Given the description of an element on the screen output the (x, y) to click on. 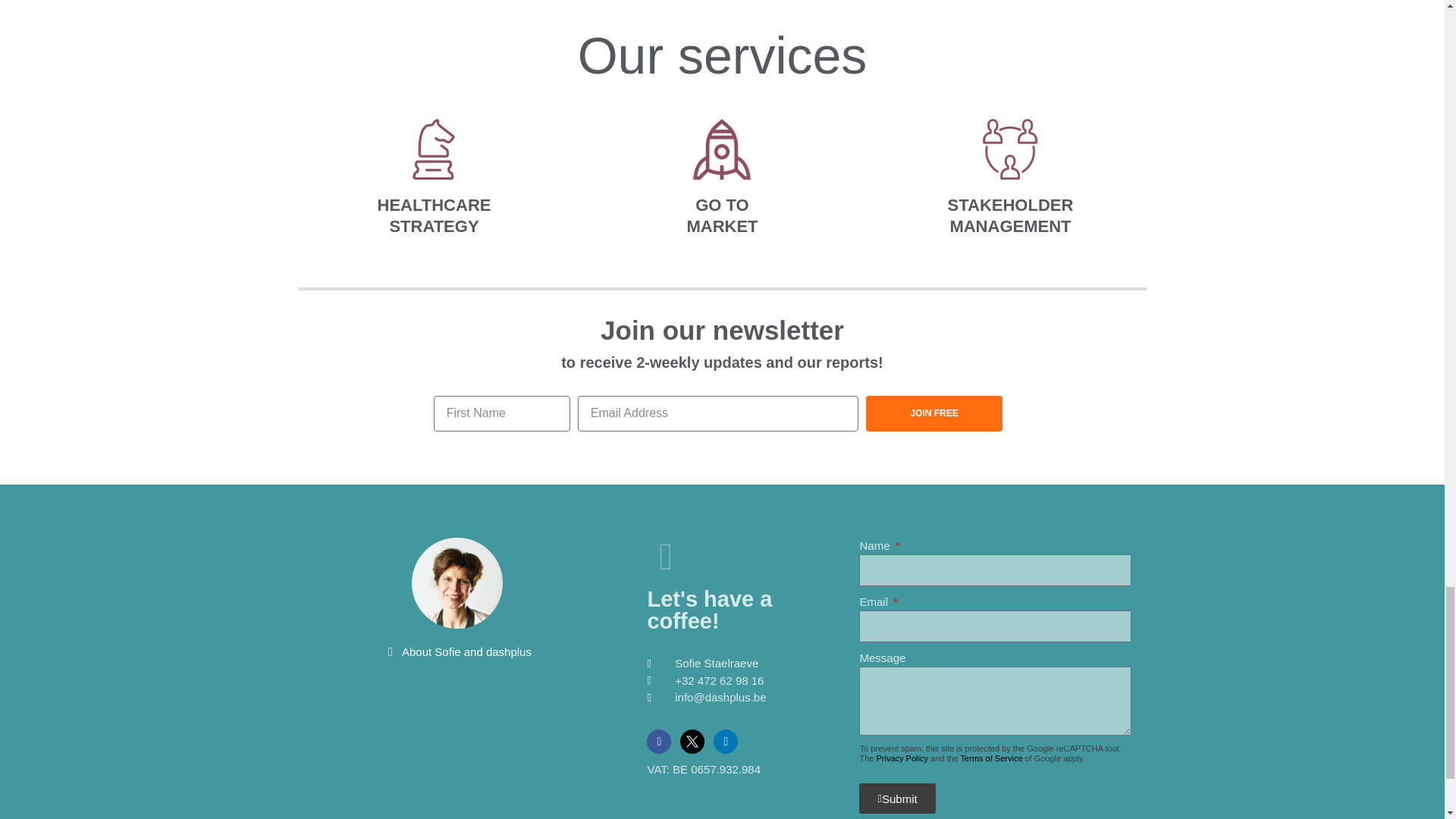
JOIN FREE (934, 413)
About Sofie and dashplus (457, 651)
Sofie Staelraeve (729, 663)
